Given the description of an element on the screen output the (x, y) to click on. 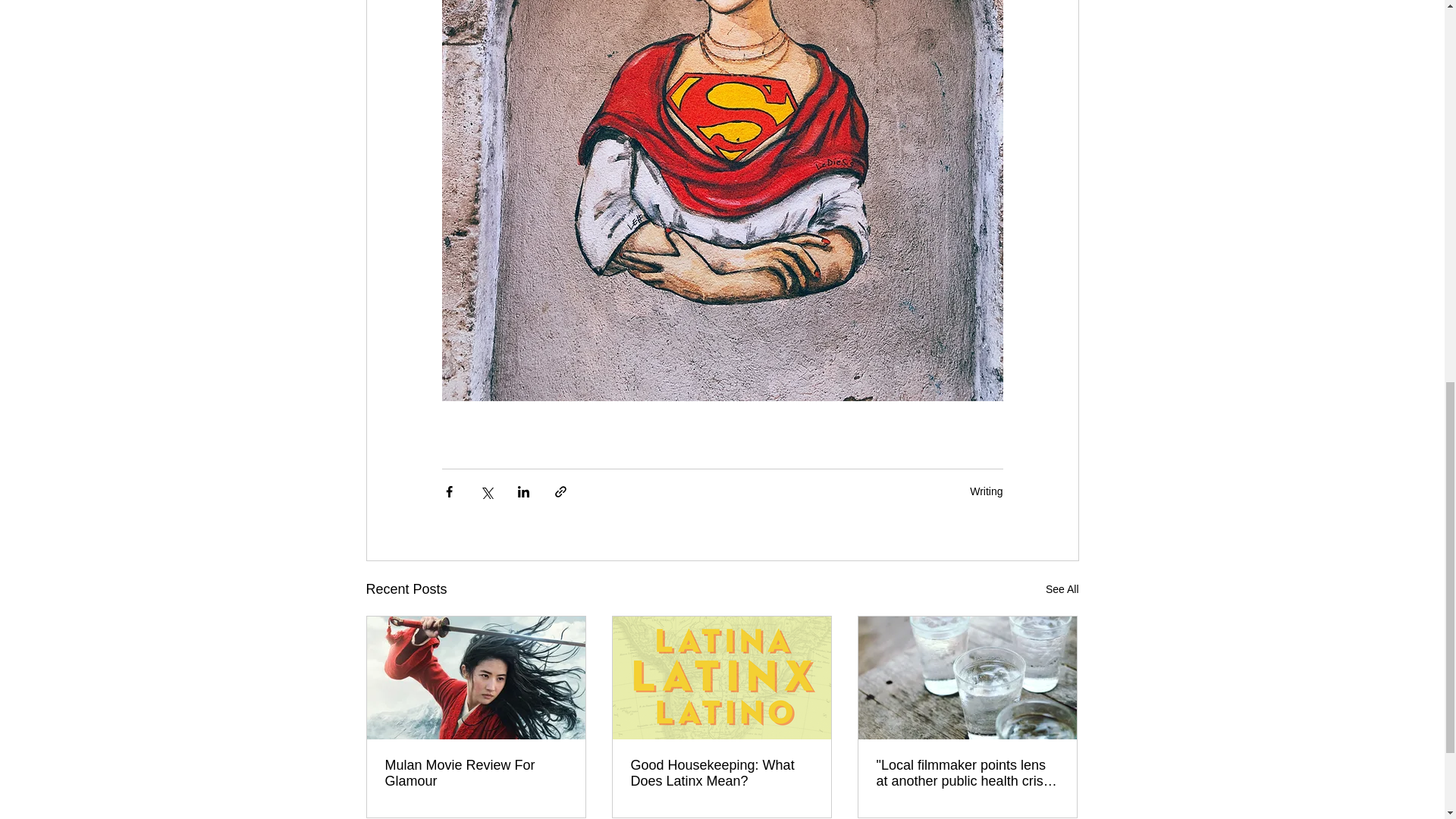
Mulan Movie Review For Glamour (476, 773)
Good Housekeeping: What Does Latinx Mean? (721, 773)
See All (1061, 589)
Writing (986, 491)
